Given the description of an element on the screen output the (x, y) to click on. 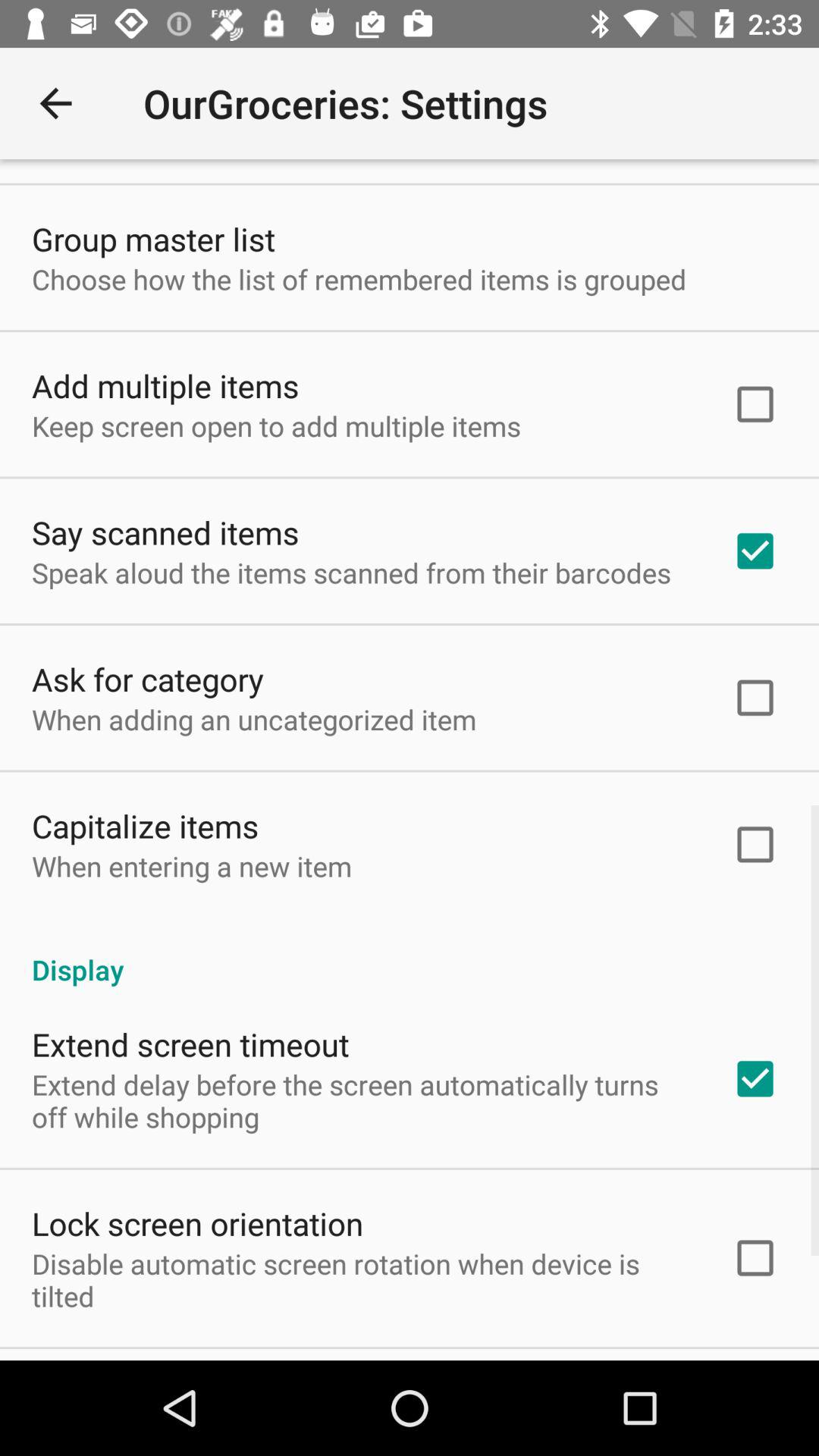
jump to when adding an (253, 719)
